Given the description of an element on the screen output the (x, y) to click on. 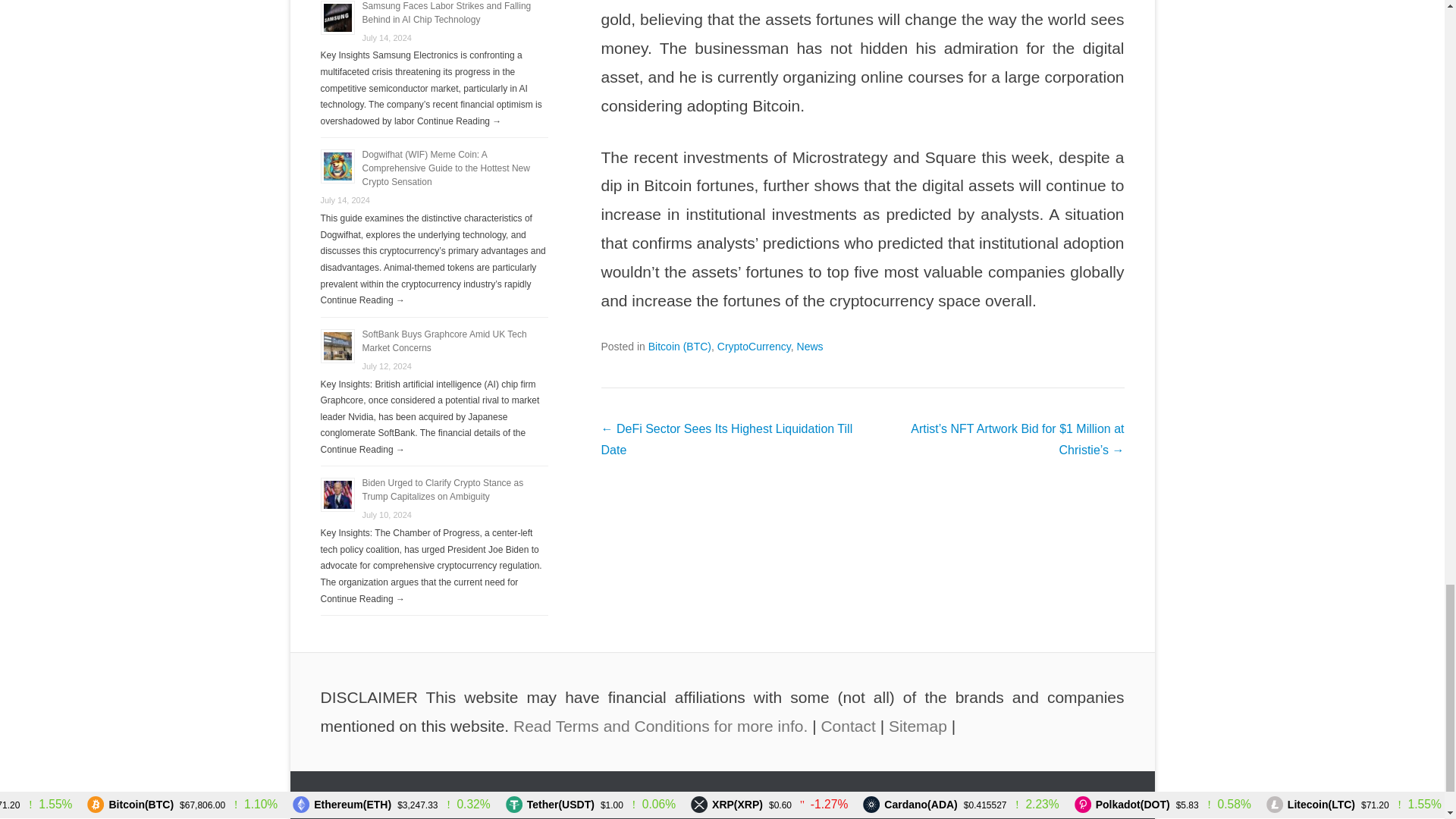
Catch Themes (1091, 809)
Zero Plus Finance (439, 809)
